Given the description of an element on the screen output the (x, y) to click on. 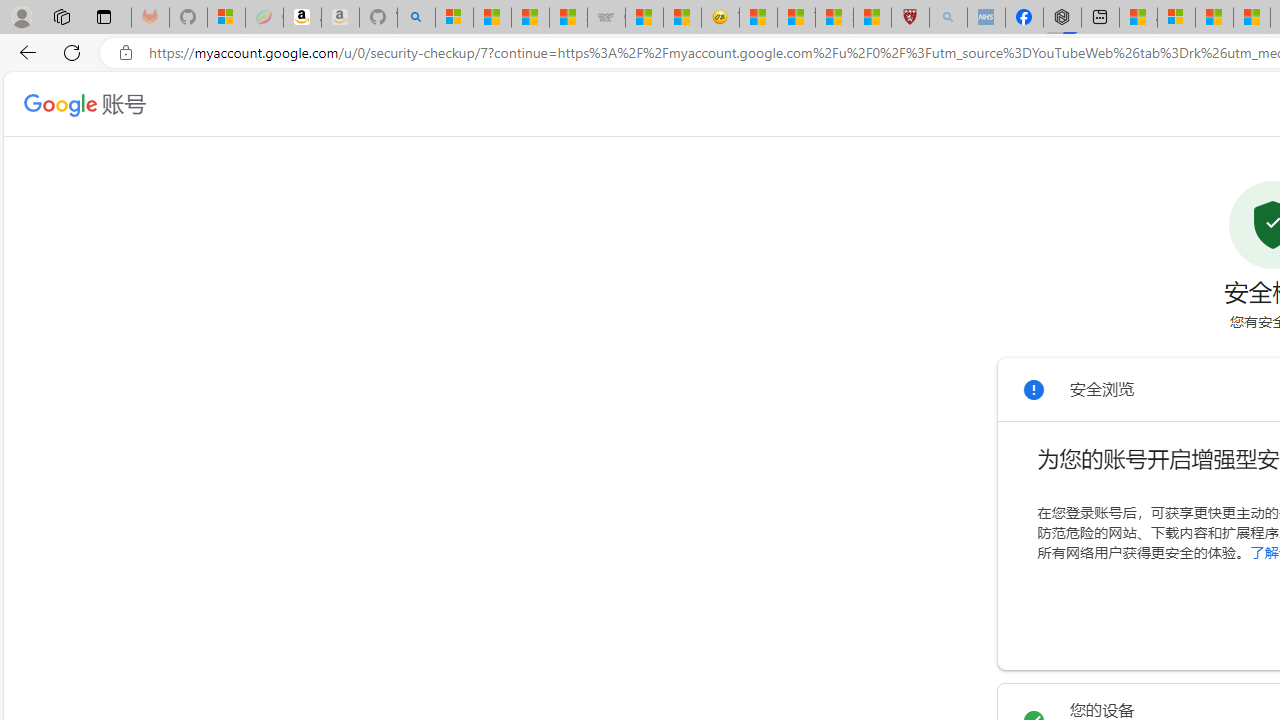
14 Common Myths Debunked By Scientific Facts (1251, 17)
Recipes - MSN (757, 17)
12 Popular Science Lies that Must be Corrected (871, 17)
Science - MSN (833, 17)
